Given the description of an element on the screen output the (x, y) to click on. 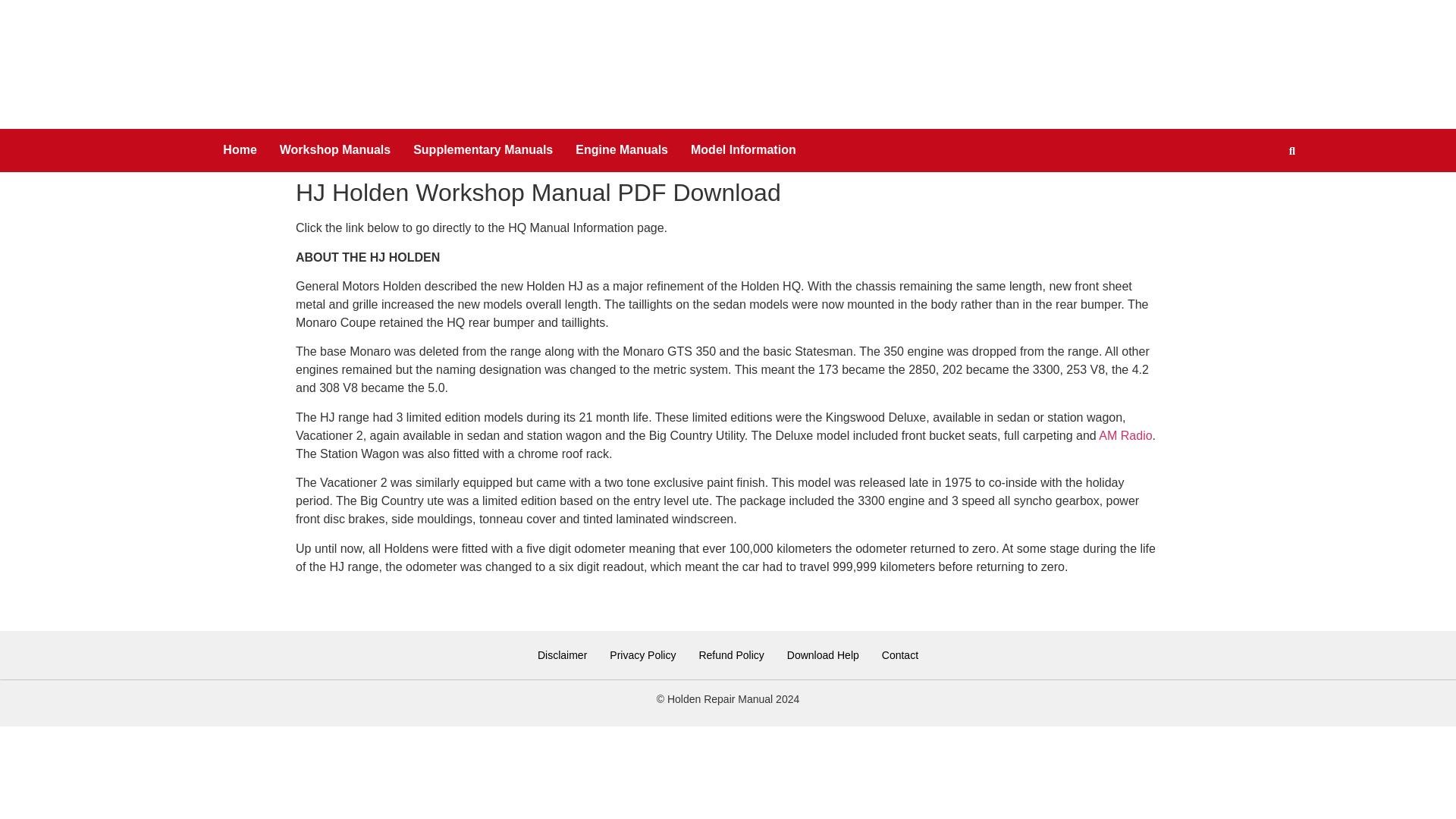
Holden Engine Manuals (621, 149)
Contact (900, 654)
Disclaimer (561, 654)
Home (239, 149)
HJ Holden Workshop Manual PDF Download 1 (389, 601)
Download Help (823, 654)
Holden Workshop Service Repair Manuals (334, 149)
Workshop Manuals (334, 149)
Refund Policy (730, 654)
Supplementary Manuals (482, 149)
Engine Manuals (621, 149)
HJ Holden Workshop Manual PDF Download (389, 610)
AM Radio (1125, 435)
Privacy Policy (642, 654)
AM Broadcasting (1125, 435)
